Given the description of an element on the screen output the (x, y) to click on. 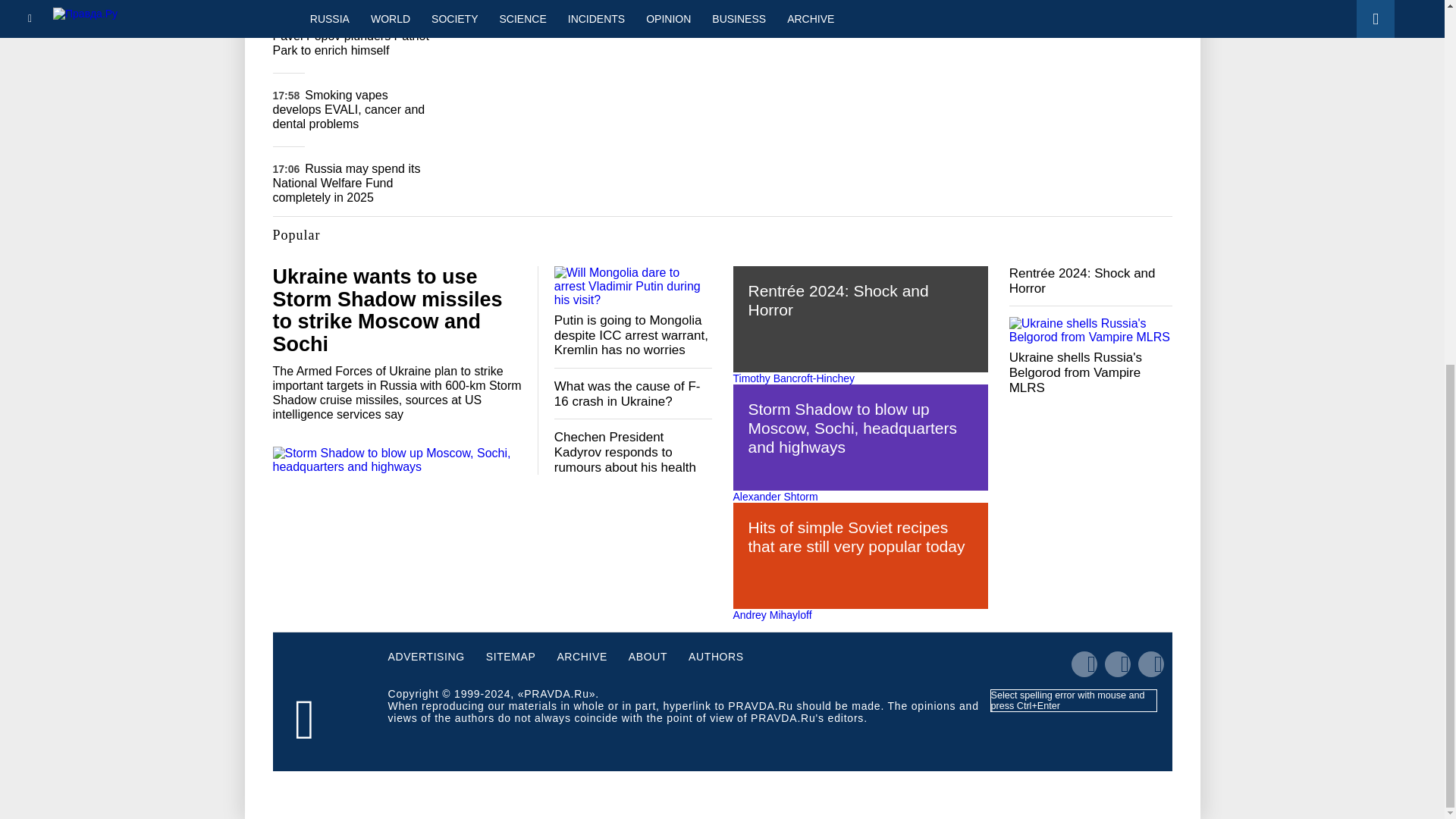
Back to top (1418, 245)
Smoking vapes develops EVALI, cancer and dental problems (349, 109)
Editorial Team (604, 3)
